Given the description of an element on the screen output the (x, y) to click on. 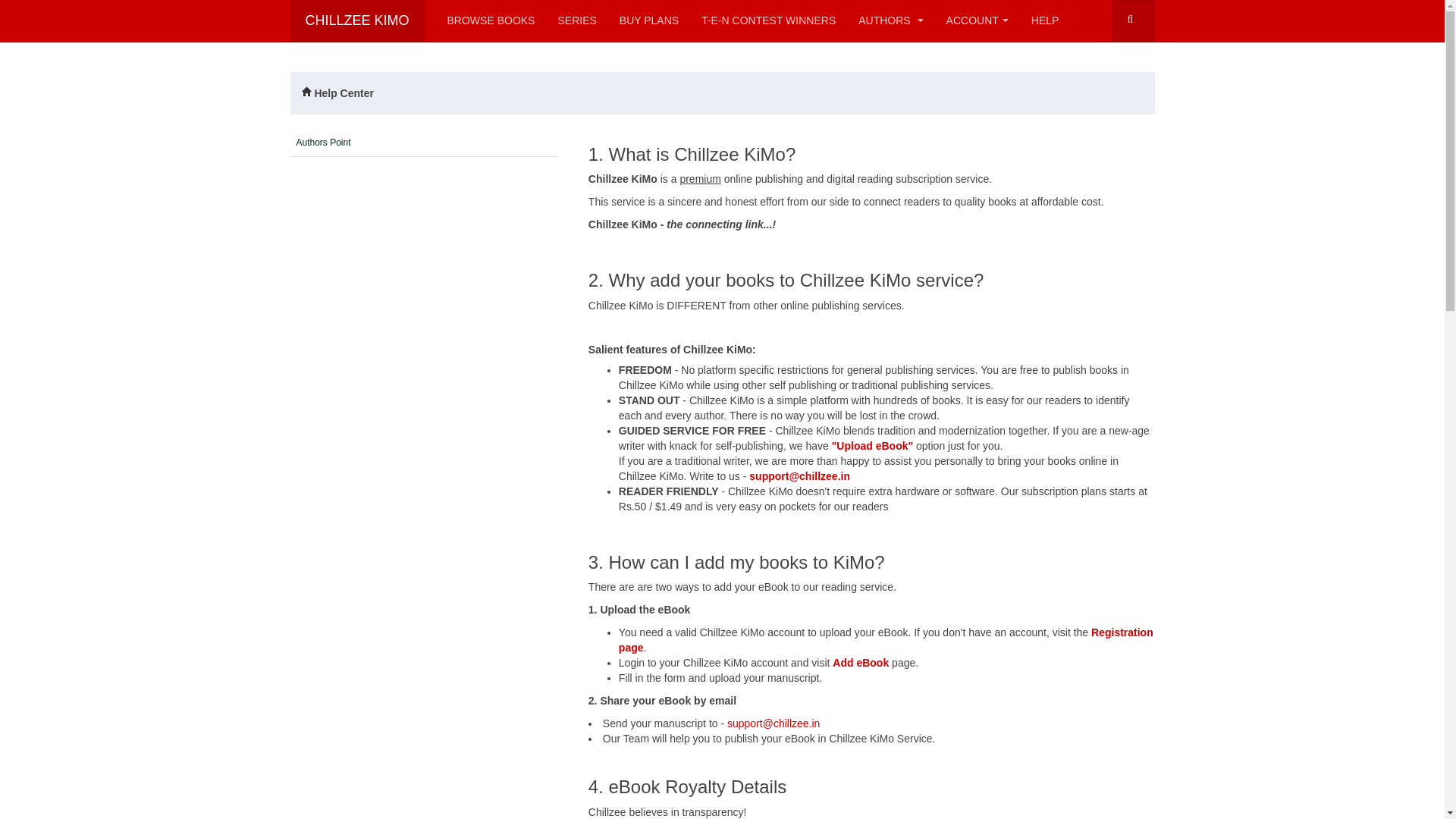
AUTHORS (891, 20)
CHILLZEE KIMO (356, 20)
BUY PLANS (649, 20)
Registration page (885, 639)
Authors Point (330, 142)
Chillzee KiMo (356, 20)
Add eBook (860, 662)
SERIES (576, 20)
BROWSE BOOKS (490, 20)
"Upload eBook" (871, 445)
T-E-N CONTEST WINNERS (768, 20)
ACCOUNT (977, 20)
